Given the description of an element on the screen output the (x, y) to click on. 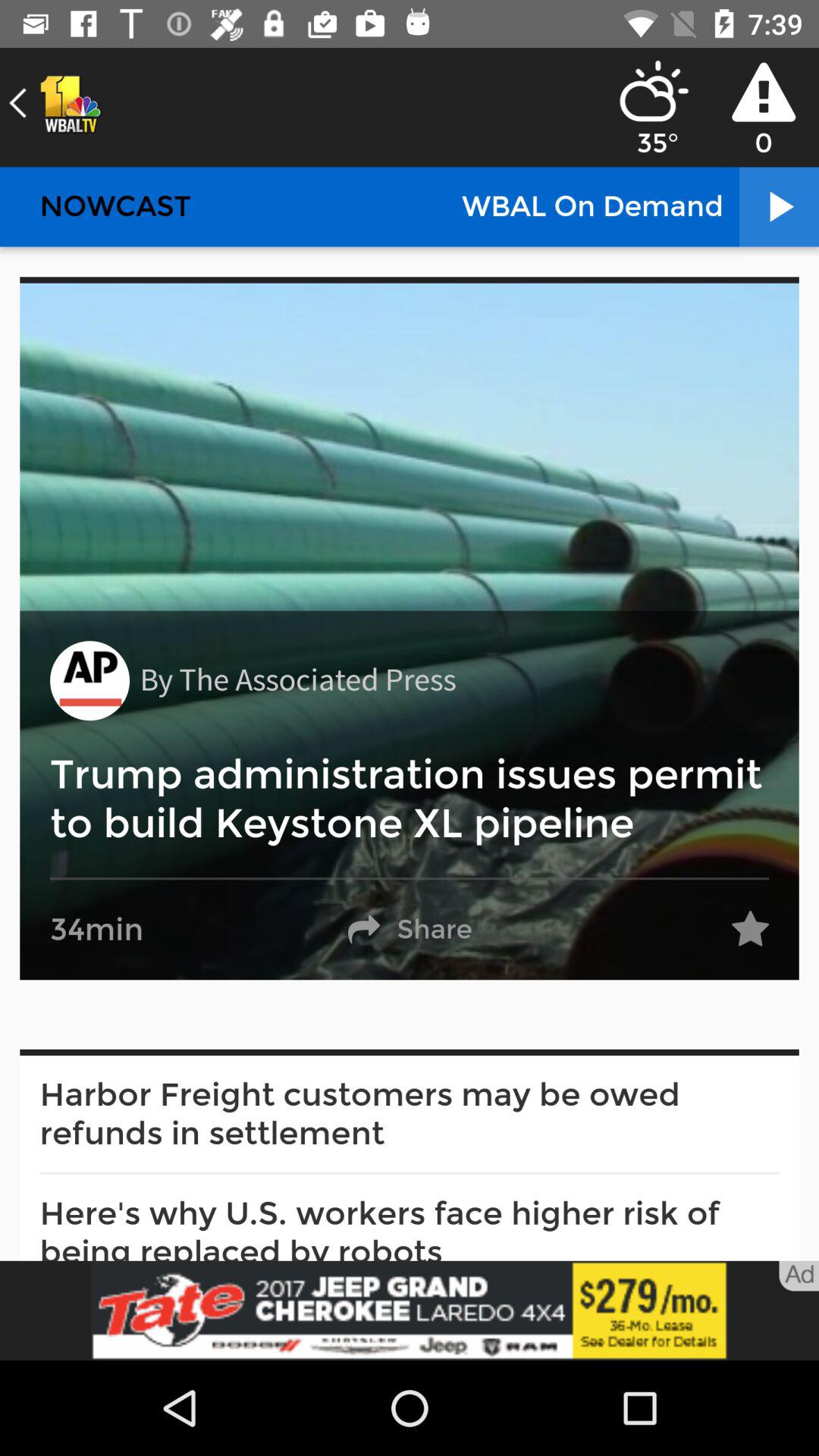
advertisement (409, 1310)
